Given the description of an element on the screen output the (x, y) to click on. 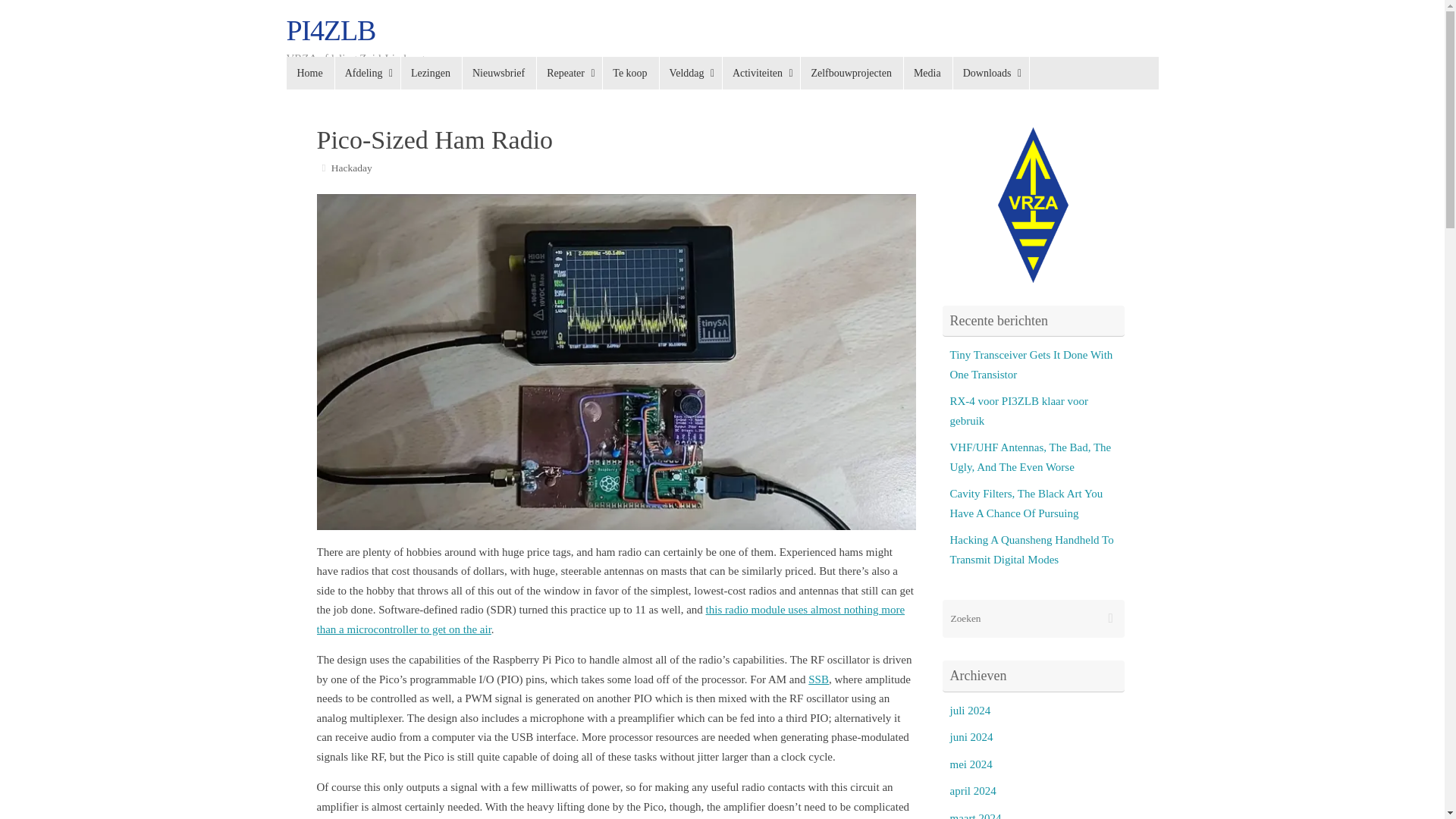
Nieuwsbrief (498, 72)
Lezingen (430, 72)
PI4ZLB (330, 30)
Downloads (990, 72)
Afdeling (367, 72)
Activiteiten (760, 72)
Home (310, 72)
Zelfbouwprojecten (850, 72)
Te koop (630, 72)
Repeater (568, 72)
Media (927, 72)
Velddag (690, 72)
PI4ZLB (330, 30)
